Given the description of an element on the screen output the (x, y) to click on. 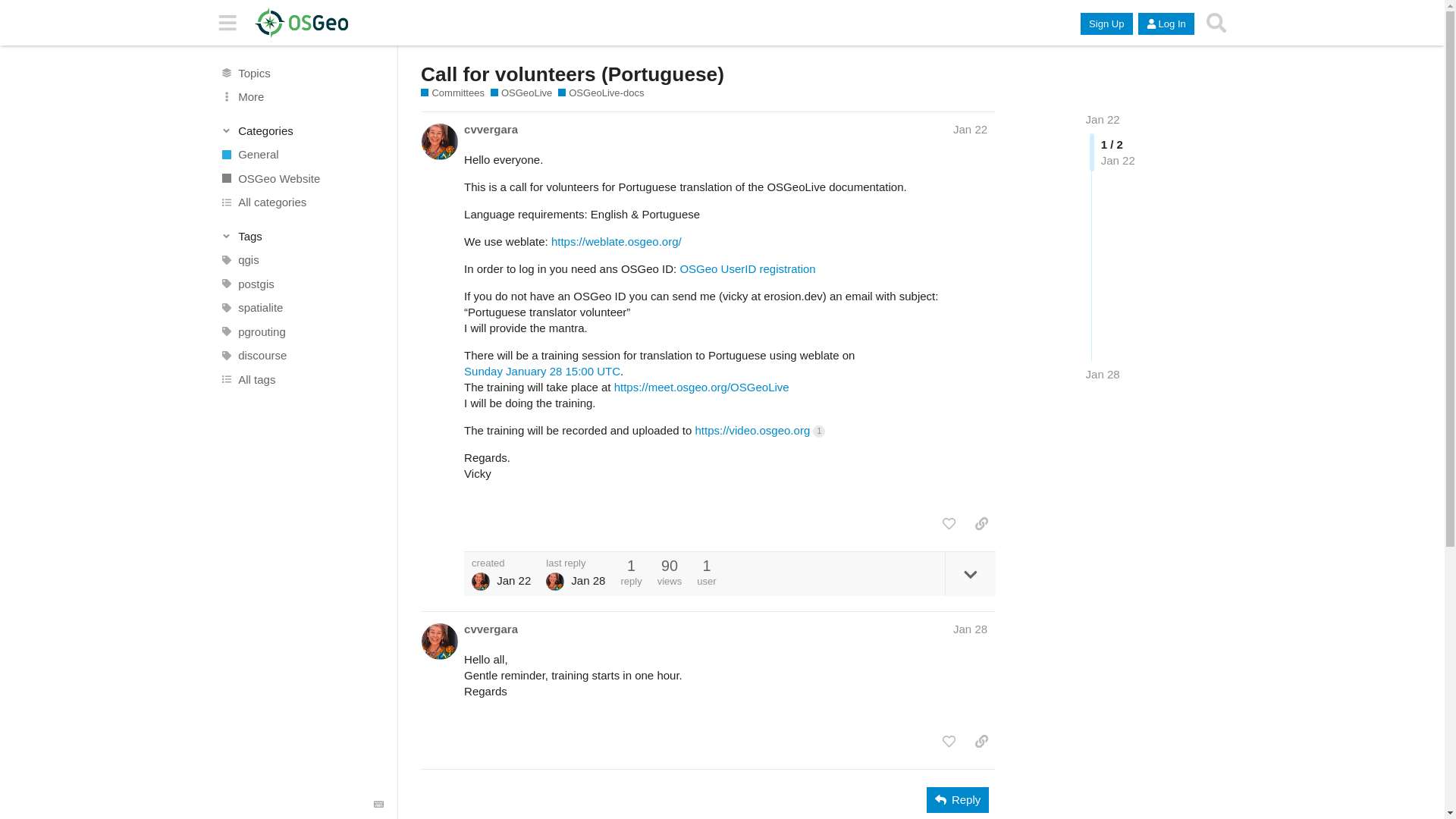
OSGeoLive-docs (601, 92)
Keyboard Shortcuts (378, 805)
OSGeoLive (521, 92)
Jan 28 (1102, 374)
Toggle section (301, 235)
Committees (452, 92)
All tags (301, 379)
Sign Up (1106, 24)
spatialite (301, 307)
More (301, 96)
cvvergara (491, 129)
Jan 22 (1102, 119)
Topics (301, 72)
Jan 22 (970, 128)
